Given the description of an element on the screen output the (x, y) to click on. 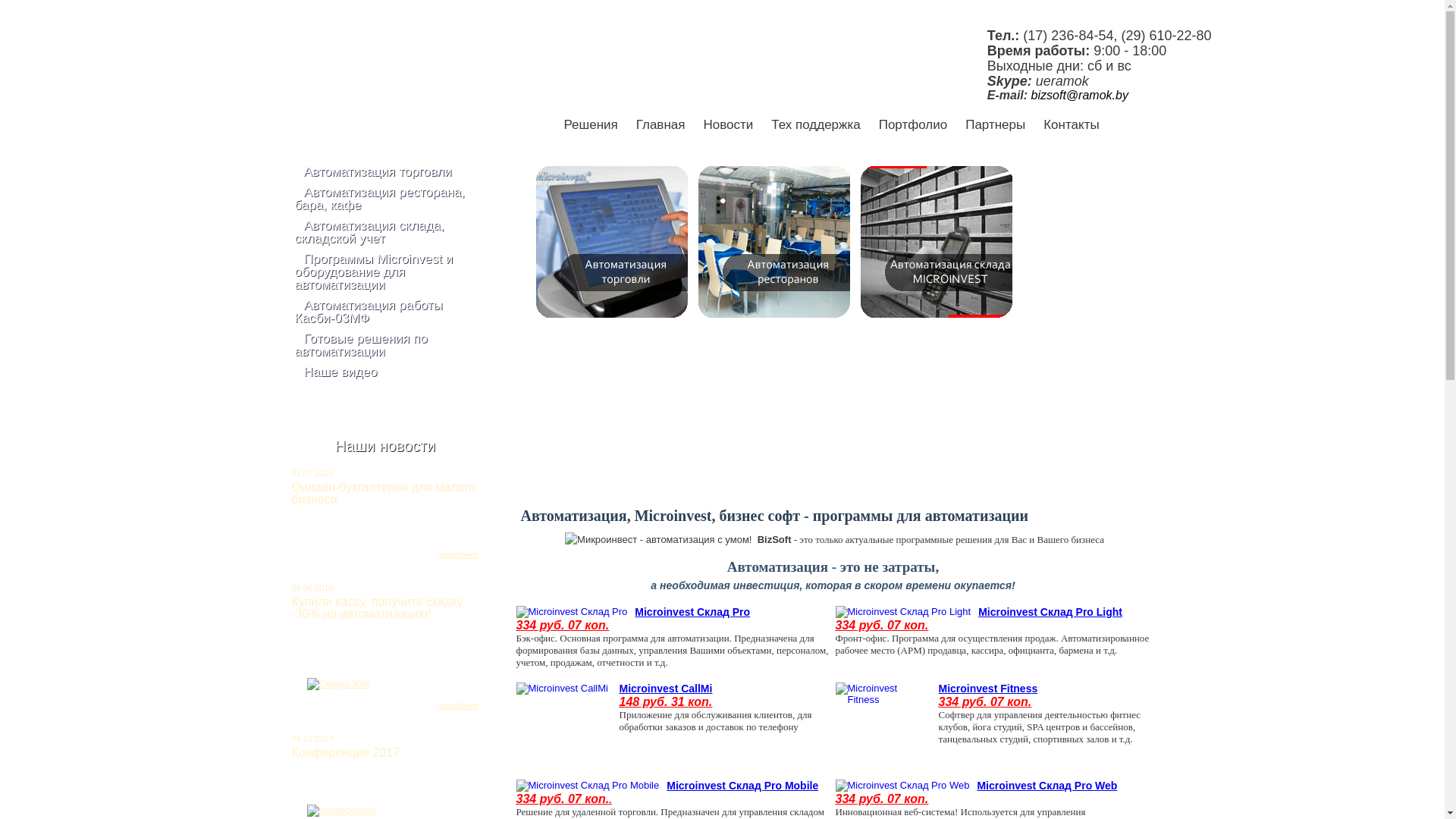
Microinvest Fitness Element type: text (988, 688)
Microinvest CallMi Element type: text (665, 688)
bizsoft@ramok.by Element type: text (1079, 94)
